Given the description of an element on the screen output the (x, y) to click on. 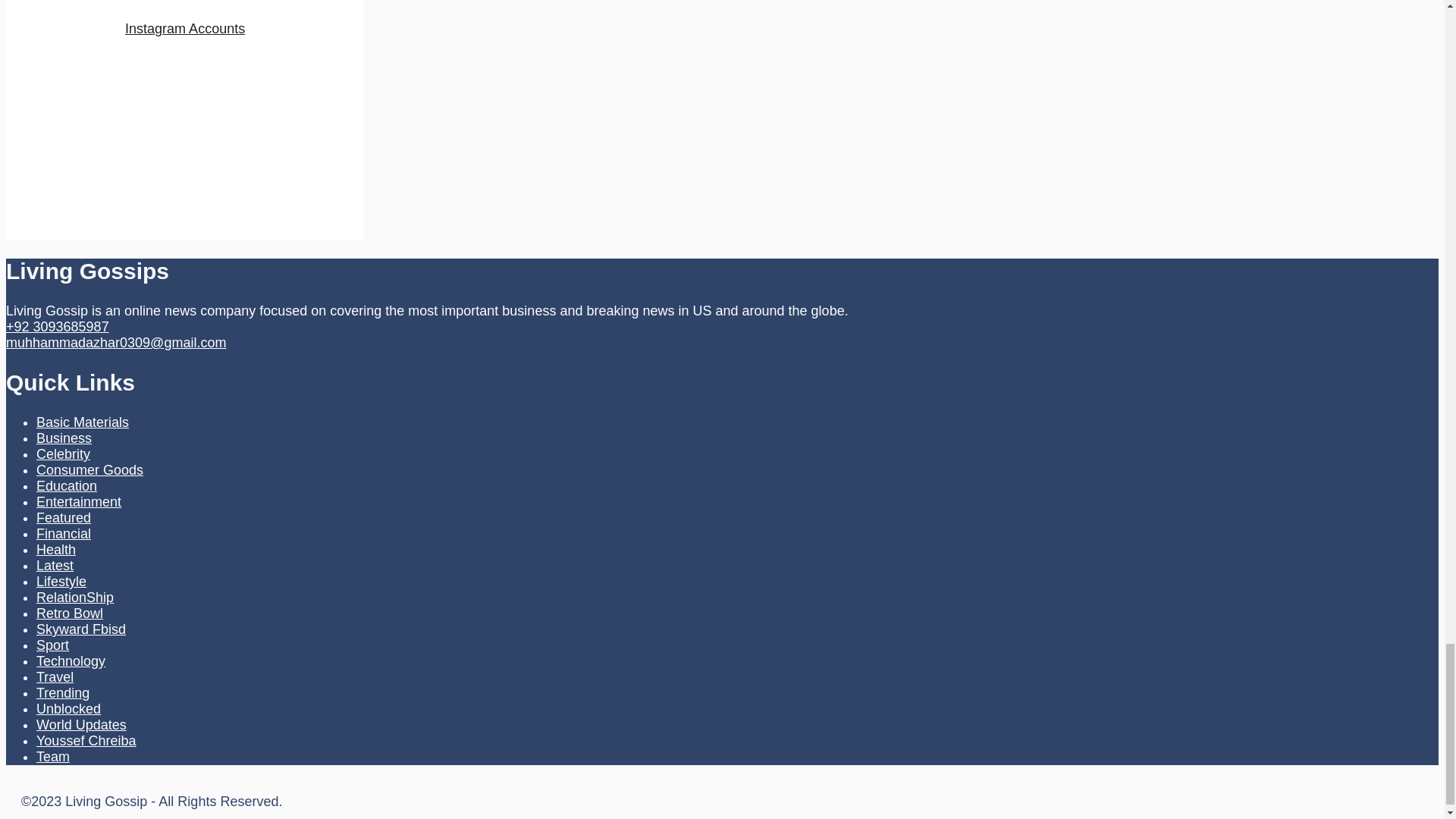
Consumer Goods (89, 469)
Featured (63, 517)
Basic Materials (82, 421)
Education (66, 485)
Business (63, 437)
Entertainment (78, 501)
Celebrity (63, 453)
Instagram Accounts (184, 28)
